Given the description of an element on the screen output the (x, y) to click on. 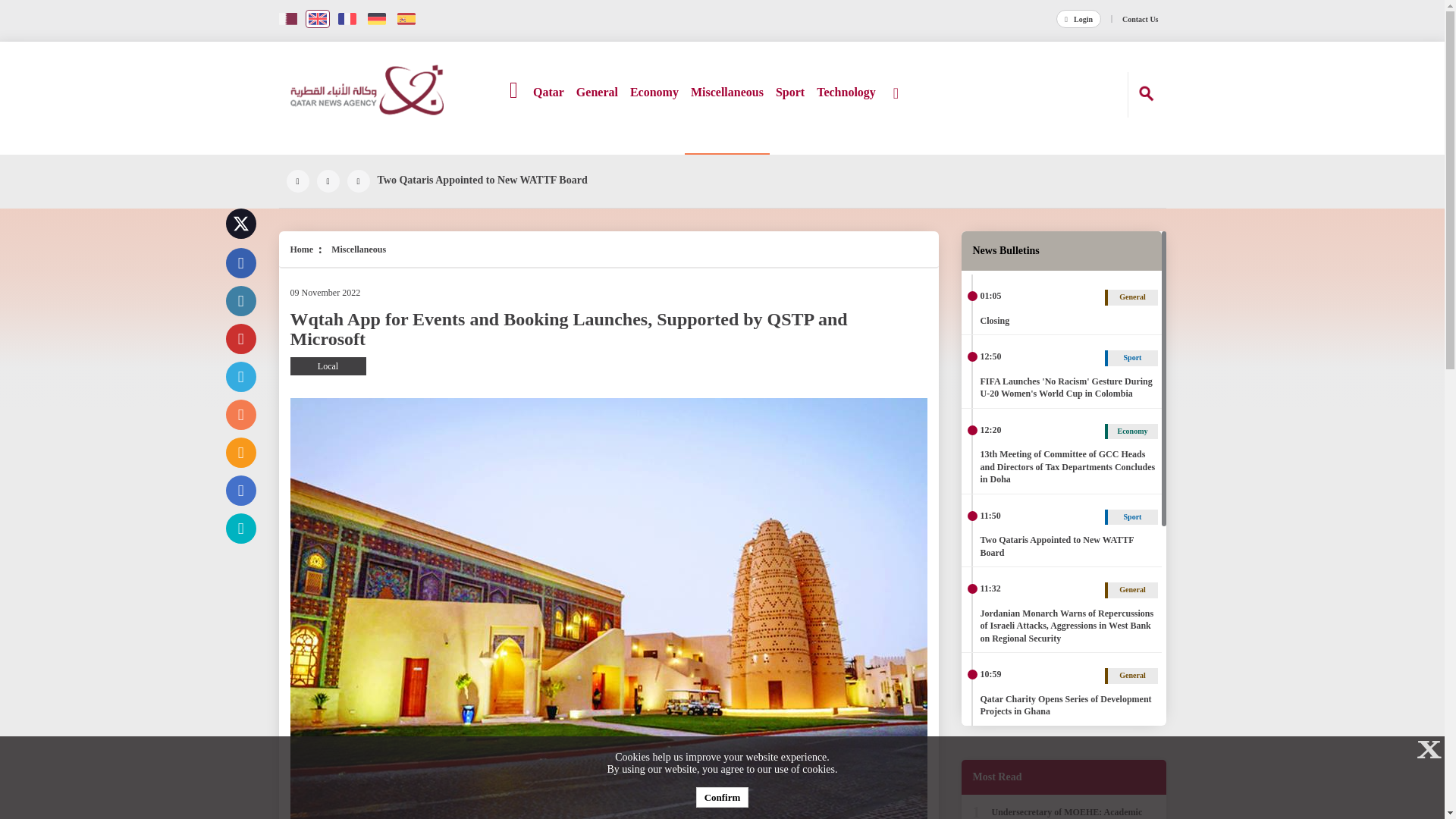
Miscellaneous (727, 107)
Login (1078, 19)
Qatar News Agency (366, 91)
Deutsch (375, 18)
English (316, 18)
Contact Us (1140, 19)
Miscellaneous (727, 107)
